Given the description of an element on the screen output the (x, y) to click on. 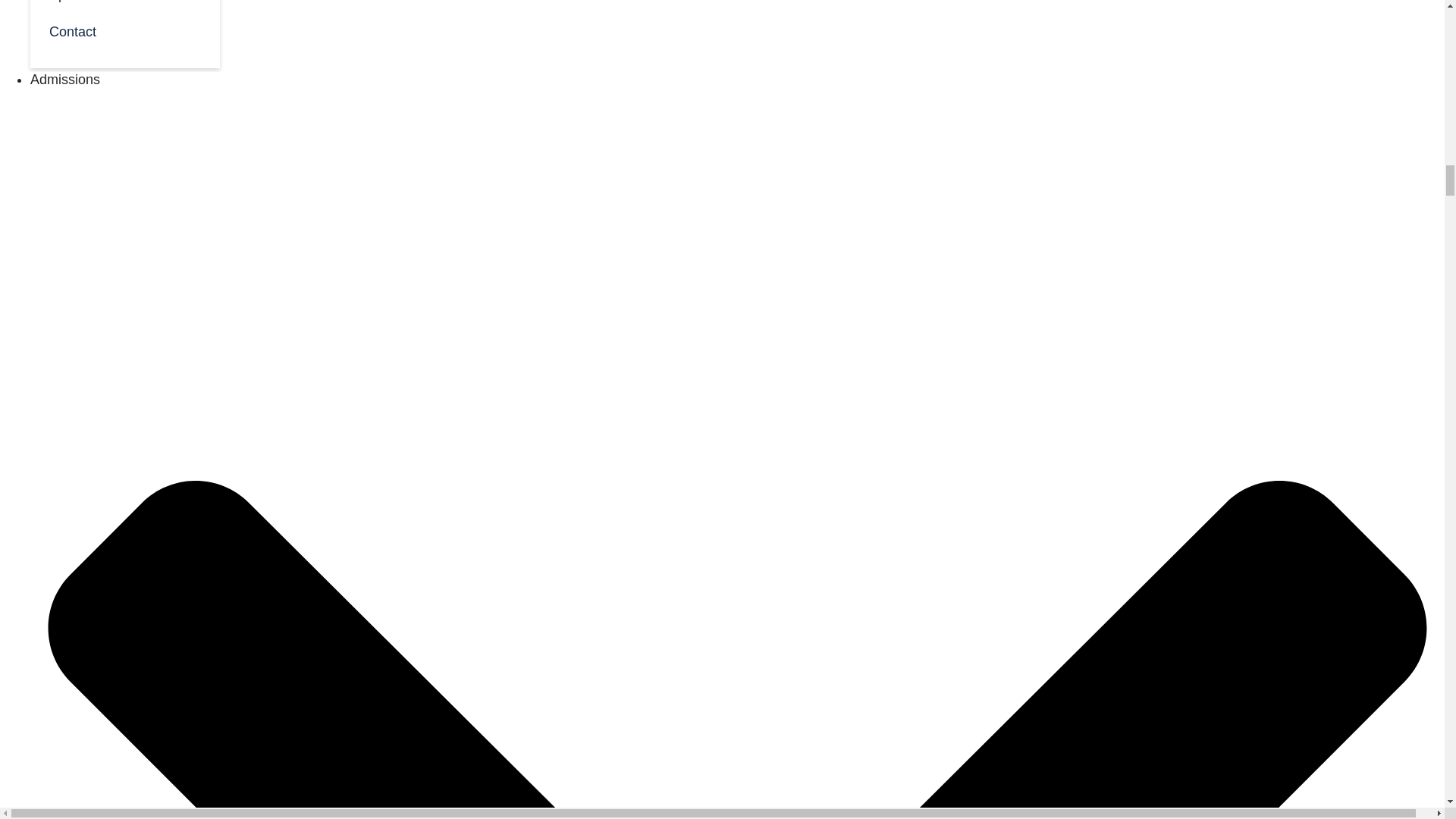
Admissions (65, 79)
Contact (125, 30)
Special Events (125, 6)
